Given the description of an element on the screen output the (x, y) to click on. 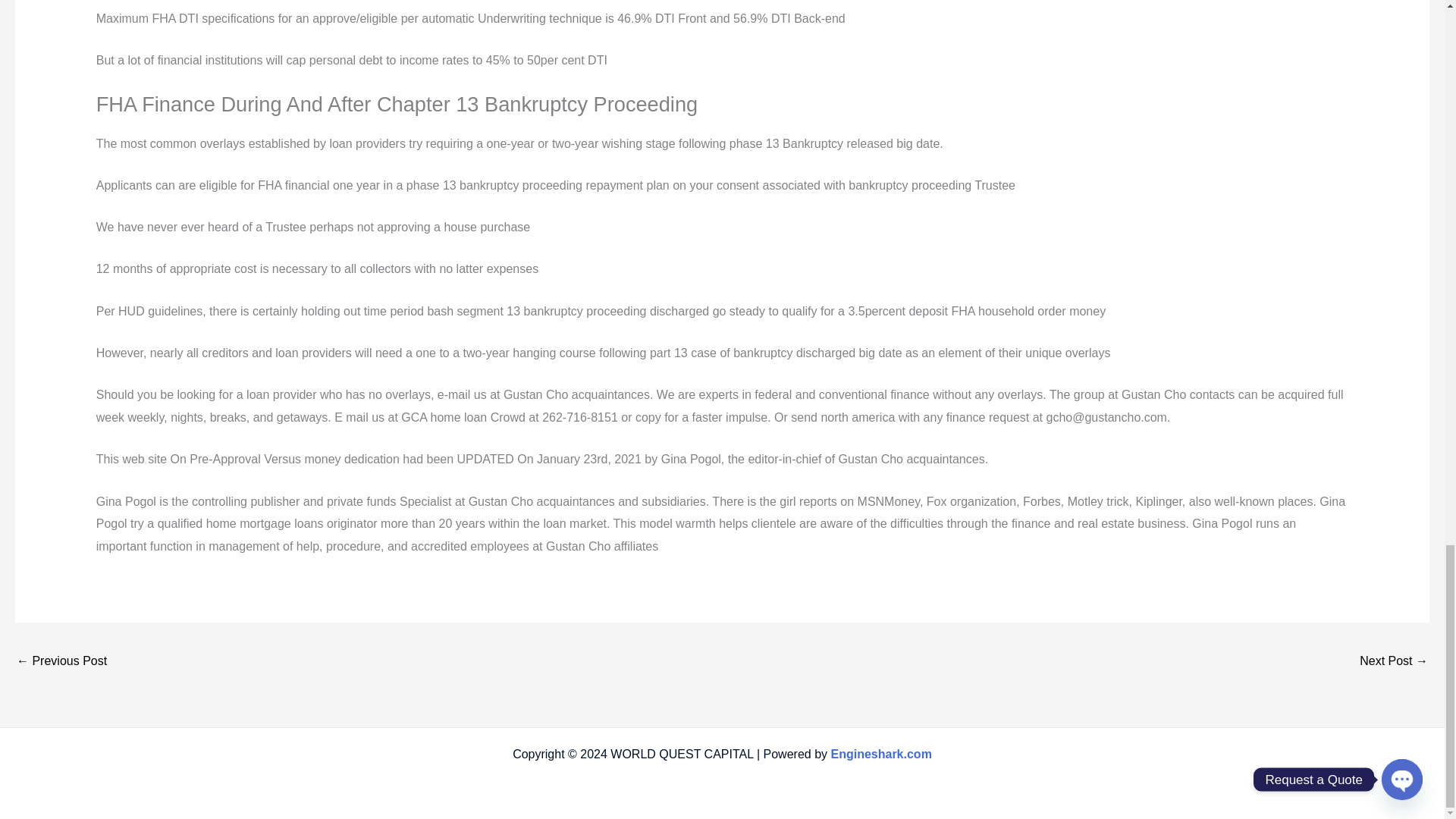
Real-World Filipina Cupid Programs Around The USA (1393, 662)
